Given the description of an element on the screen output the (x, y) to click on. 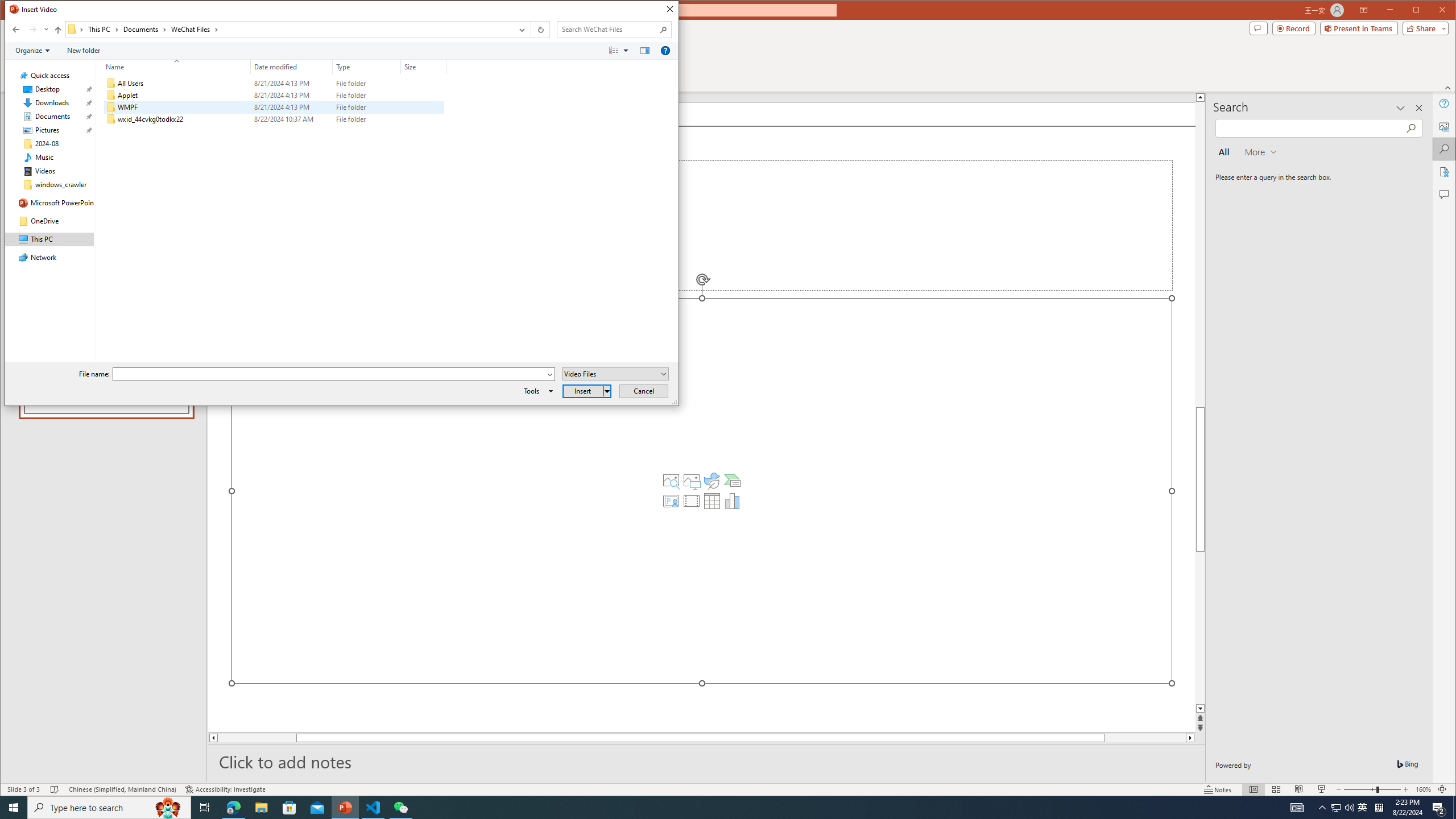
Insert an Icon (711, 480)
Recent locations (45, 29)
Tools (536, 390)
Size (423, 66)
Preview pane (644, 50)
Insert Table (711, 501)
Refresh "WeChat Files" (F5) (538, 29)
